Given the description of an element on the screen output the (x, y) to click on. 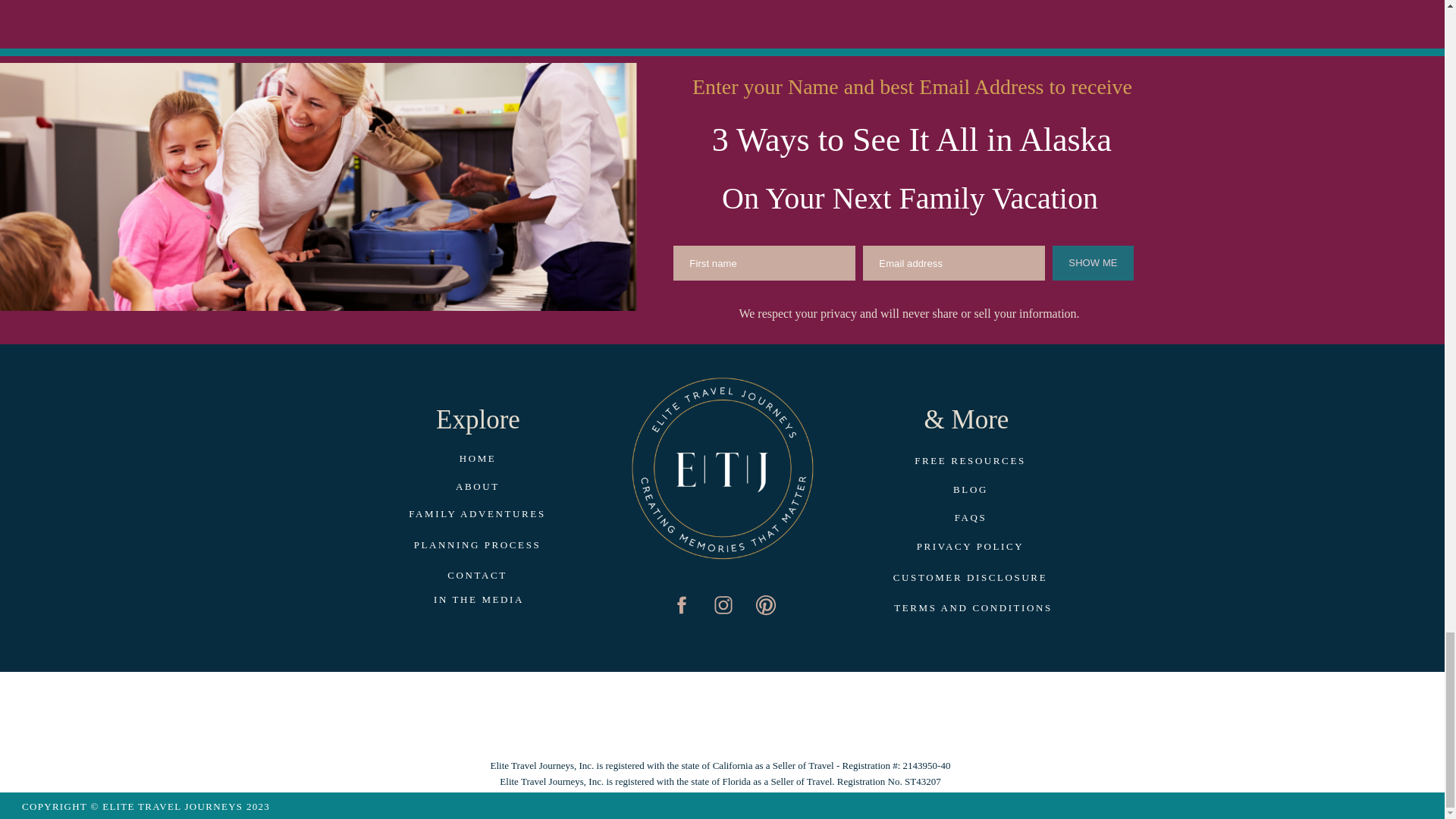
IN THE MEDIA (478, 600)
ABOUT (477, 486)
FAMILY ADVENTURES (477, 515)
PLANNING PROCESS (477, 546)
SHOW ME (1092, 262)
TERMS AND CONDITIONS (973, 608)
